Given the description of an element on the screen output the (x, y) to click on. 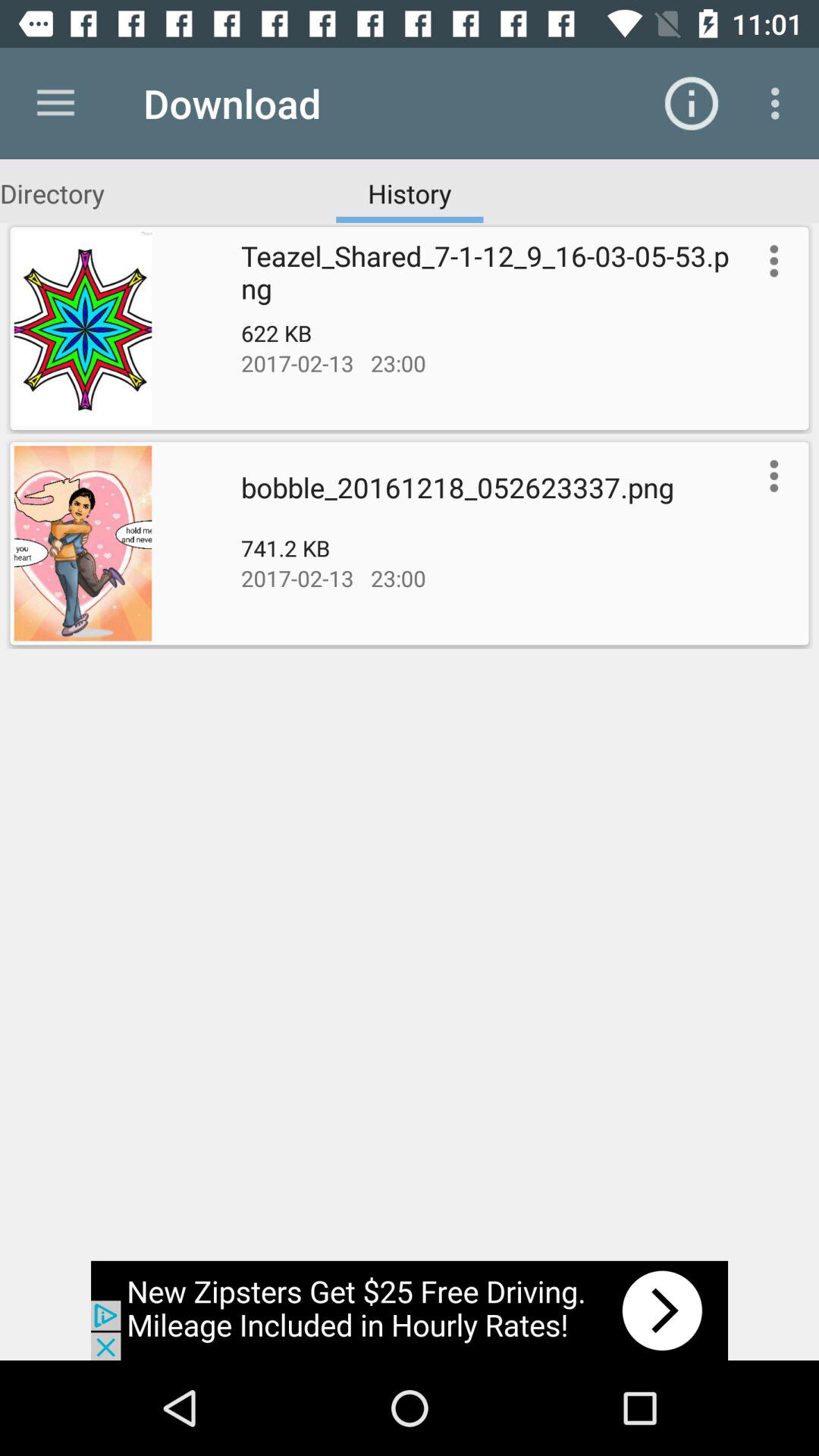
view options (770, 260)
